Given the description of an element on the screen output the (x, y) to click on. 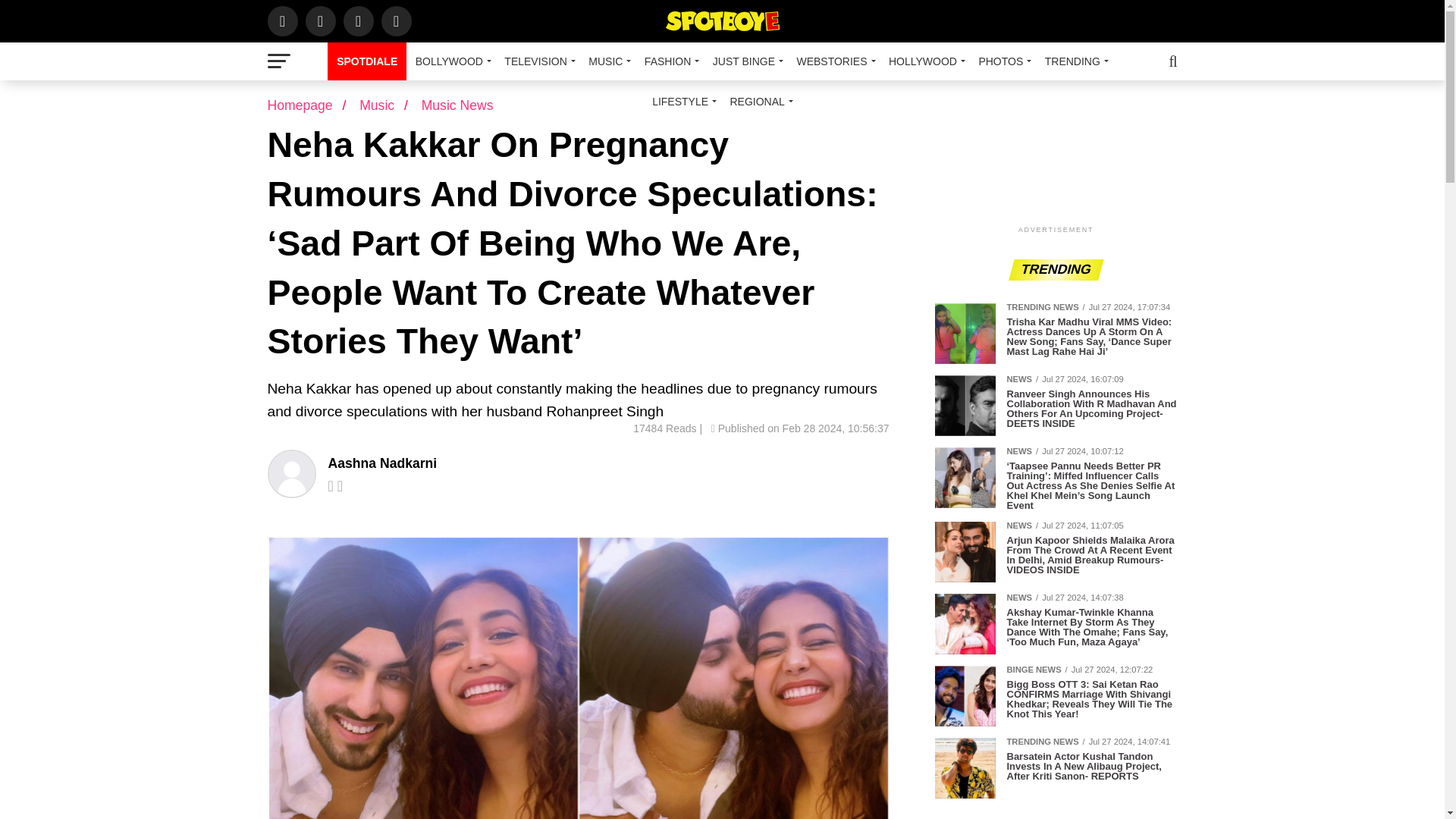
Posts by  Aashna Nadkarni  (381, 462)
BOLLYWOOD (451, 61)
WEBSTORIES (833, 61)
HOLLYWOOD (924, 61)
TELEVISION (537, 61)
LIFESTYLE (681, 101)
TRENDING (1074, 61)
MUSIC (606, 61)
PHOTOS (1002, 61)
JUST BINGE (745, 61)
REGIONAL (758, 101)
FASHION (668, 61)
SPOTDIALE (366, 61)
